Given the description of an element on the screen output the (x, y) to click on. 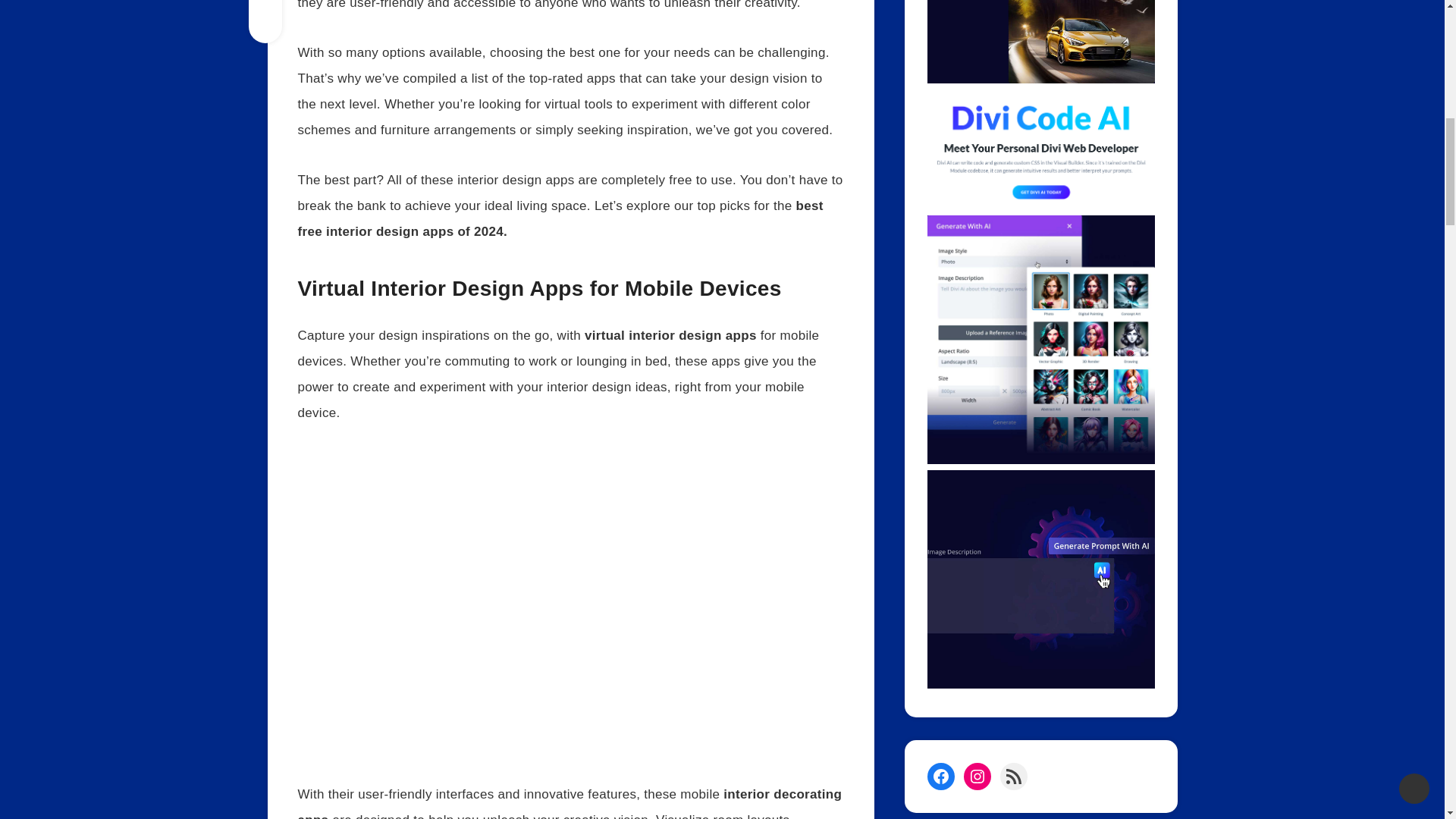
Facebook (939, 776)
RSS Feed (1012, 776)
Instagram (976, 776)
